Given the description of an element on the screen output the (x, y) to click on. 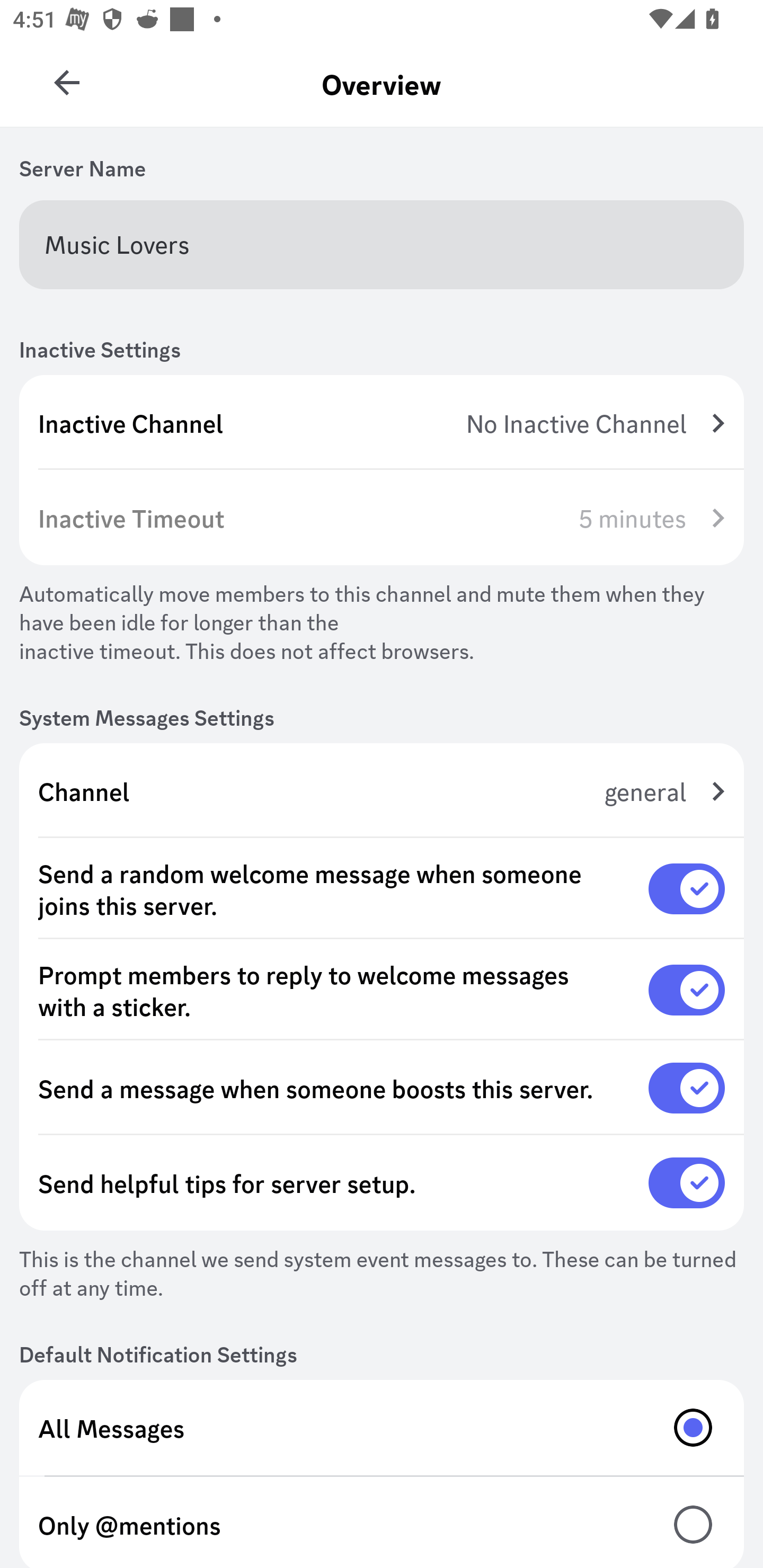
  Friends F (66, 75)
Music Lovers (381, 244)
Channel, general Channel general (381, 790)
on (686, 888)
on (686, 990)
on (686, 1088)
on (686, 1182)
All Messages (381, 1427)
Only @mentions (381, 1522)
